Given the description of an element on the screen output the (x, y) to click on. 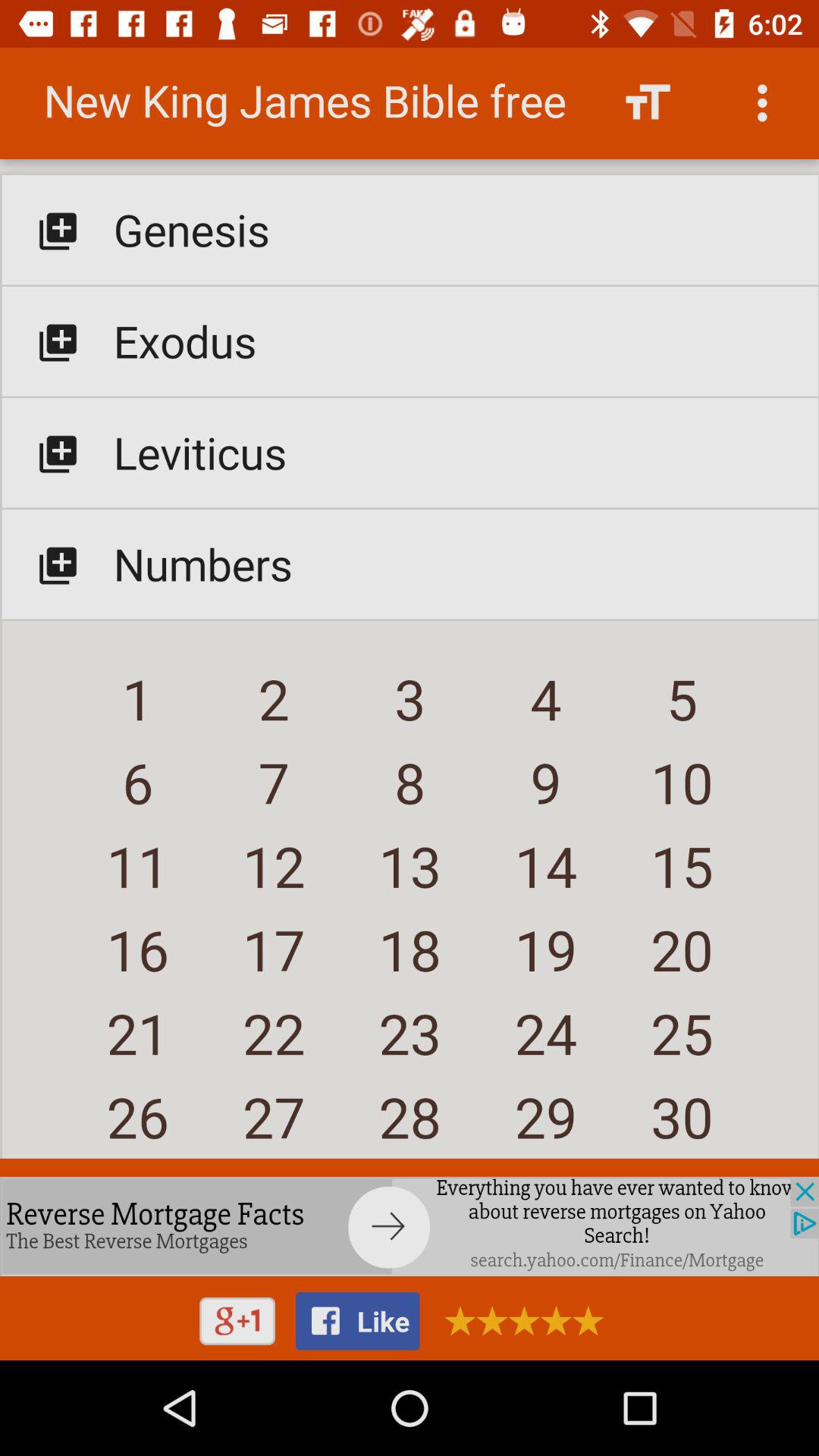
rate app (518, 1320)
